Given the description of an element on the screen output the (x, y) to click on. 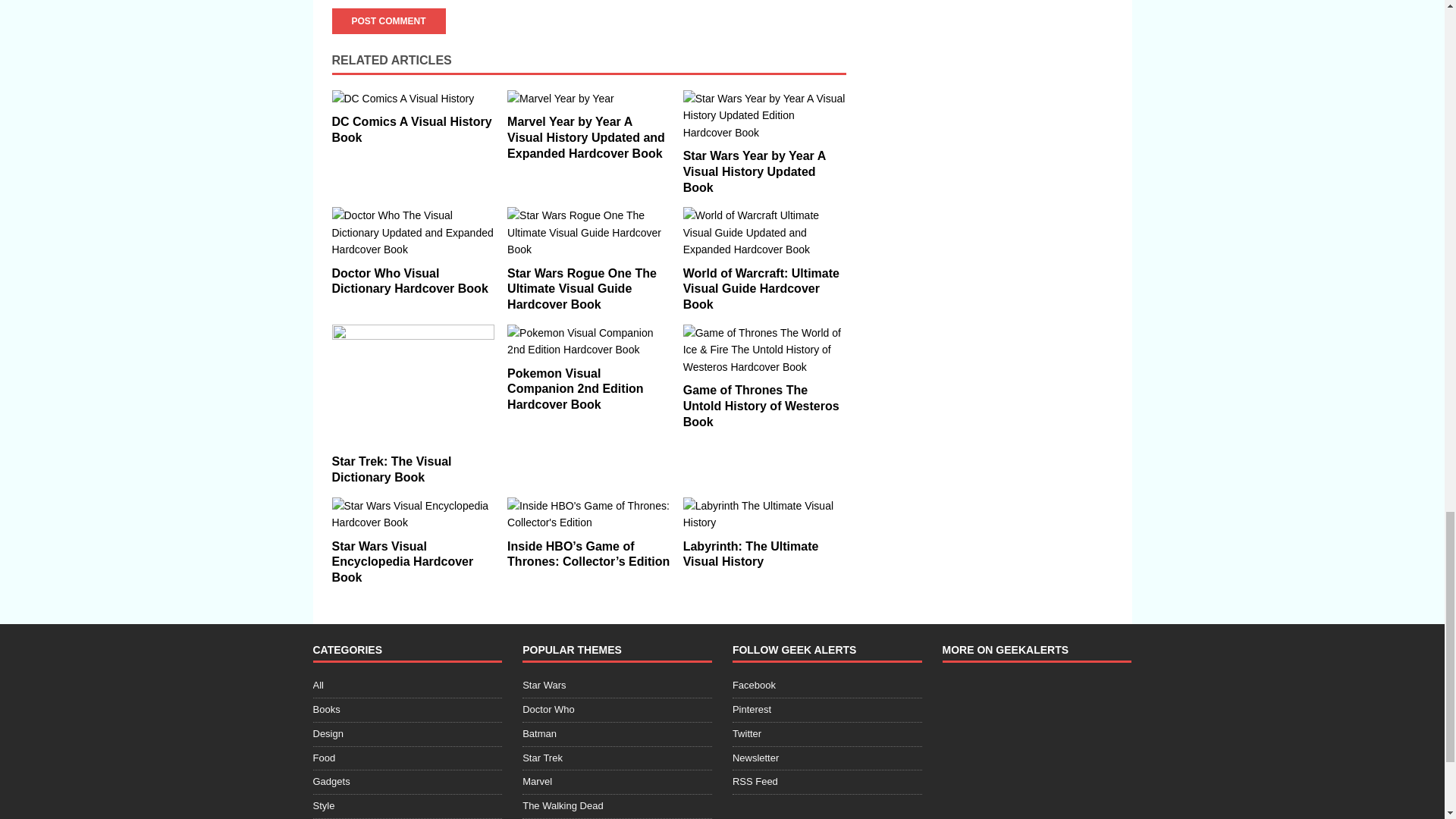
DC Comics A Visual History Book (411, 129)
DC Comics A Visual History Book (413, 98)
Post Comment (388, 21)
